Given the description of an element on the screen output the (x, y) to click on. 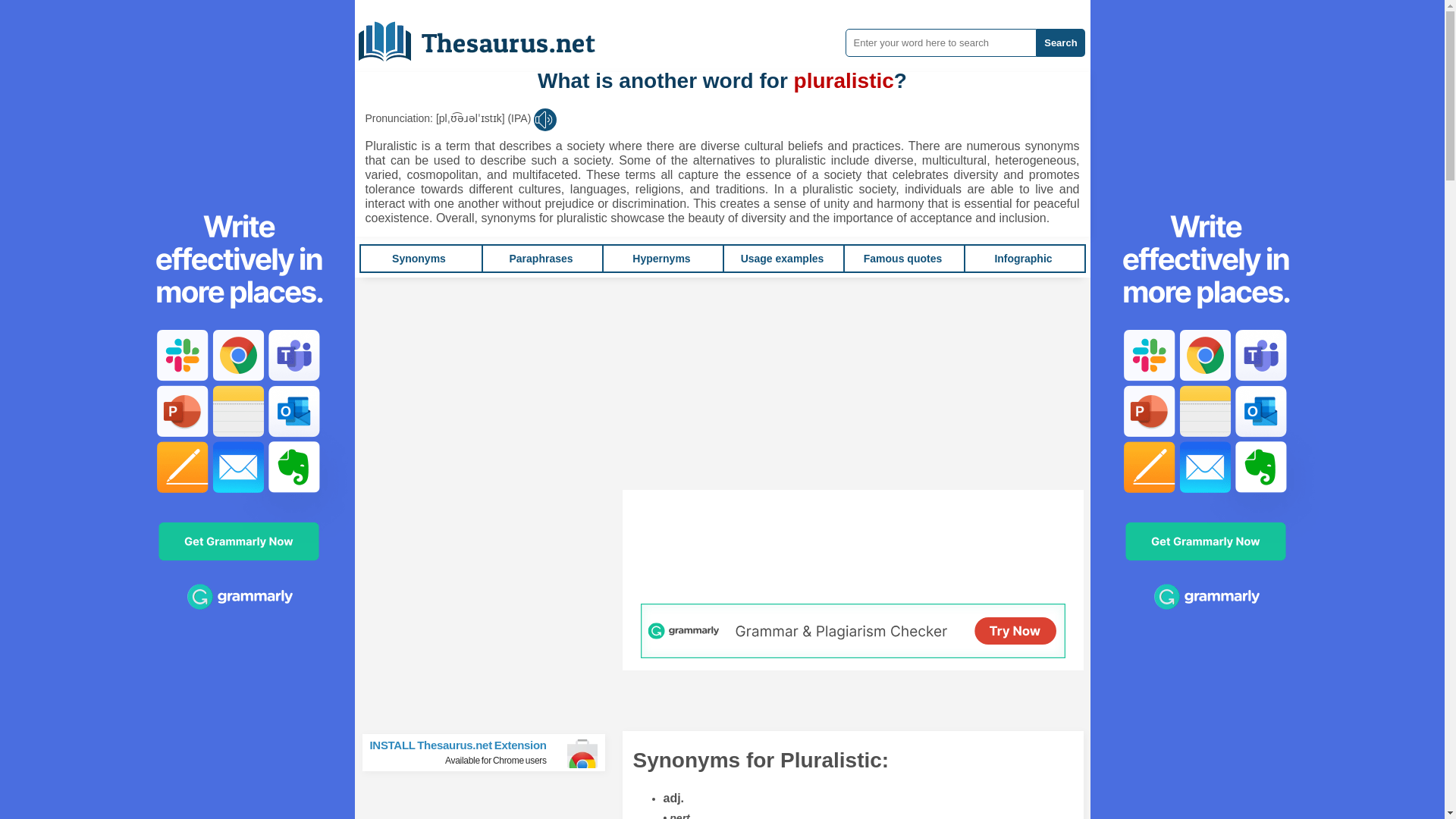
Synonyms (418, 258)
Hypernyms (489, 752)
Paraphrases (660, 258)
Thesaurus.net (540, 258)
Search (487, 35)
Usage examples (1060, 42)
Infographic (782, 258)
Famous quotes (1022, 258)
Hypernyms (902, 258)
Paraphrases (660, 258)
Famous quotes (540, 258)
Infographic (902, 258)
Synonyms (1022, 258)
Usage examples (418, 258)
